Given the description of an element on the screen output the (x, y) to click on. 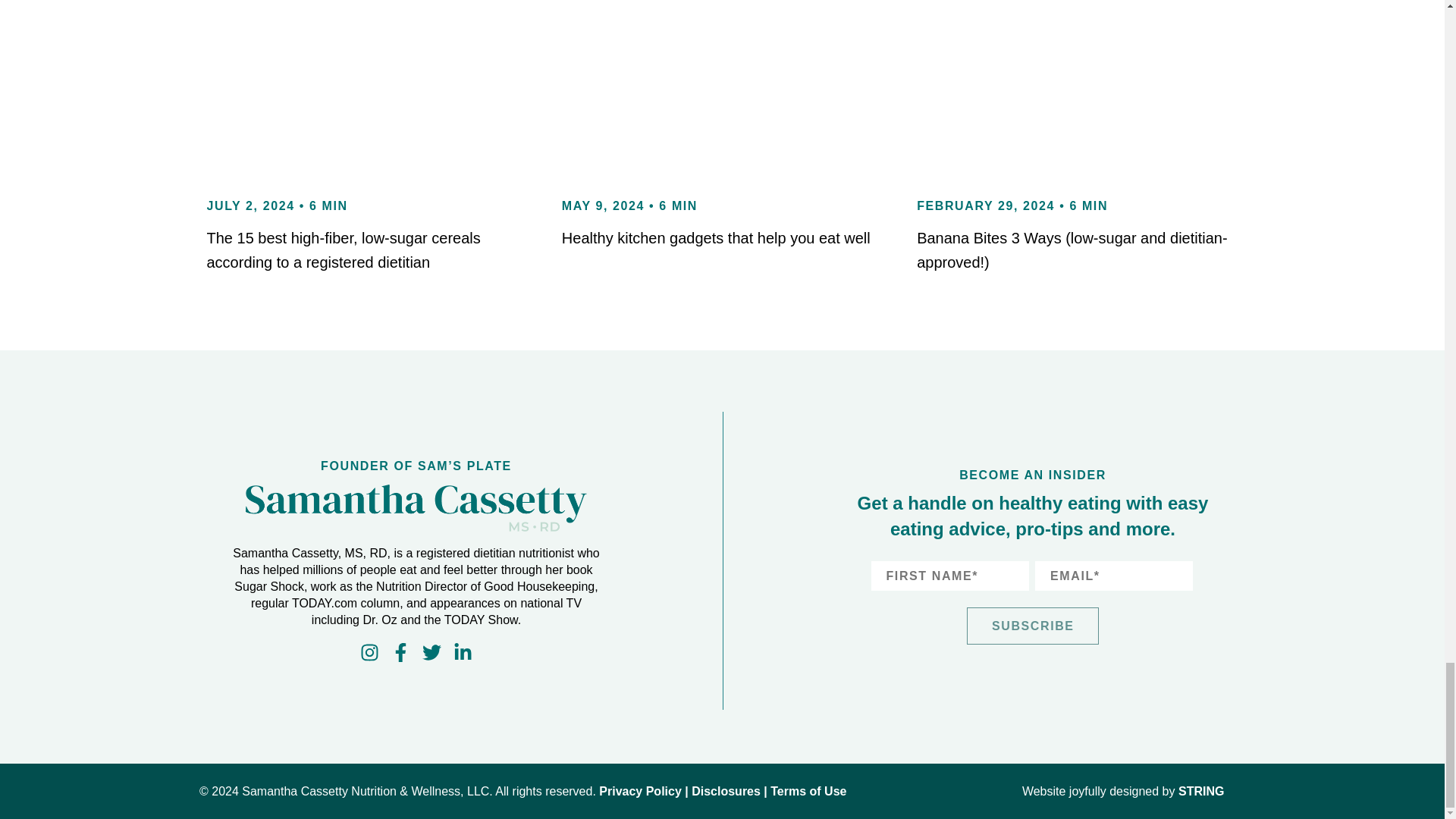
Healthy kitchen gadgets that help you eat well (716, 238)
SUBSCRIBE (1032, 625)
